Given the description of an element on the screen output the (x, y) to click on. 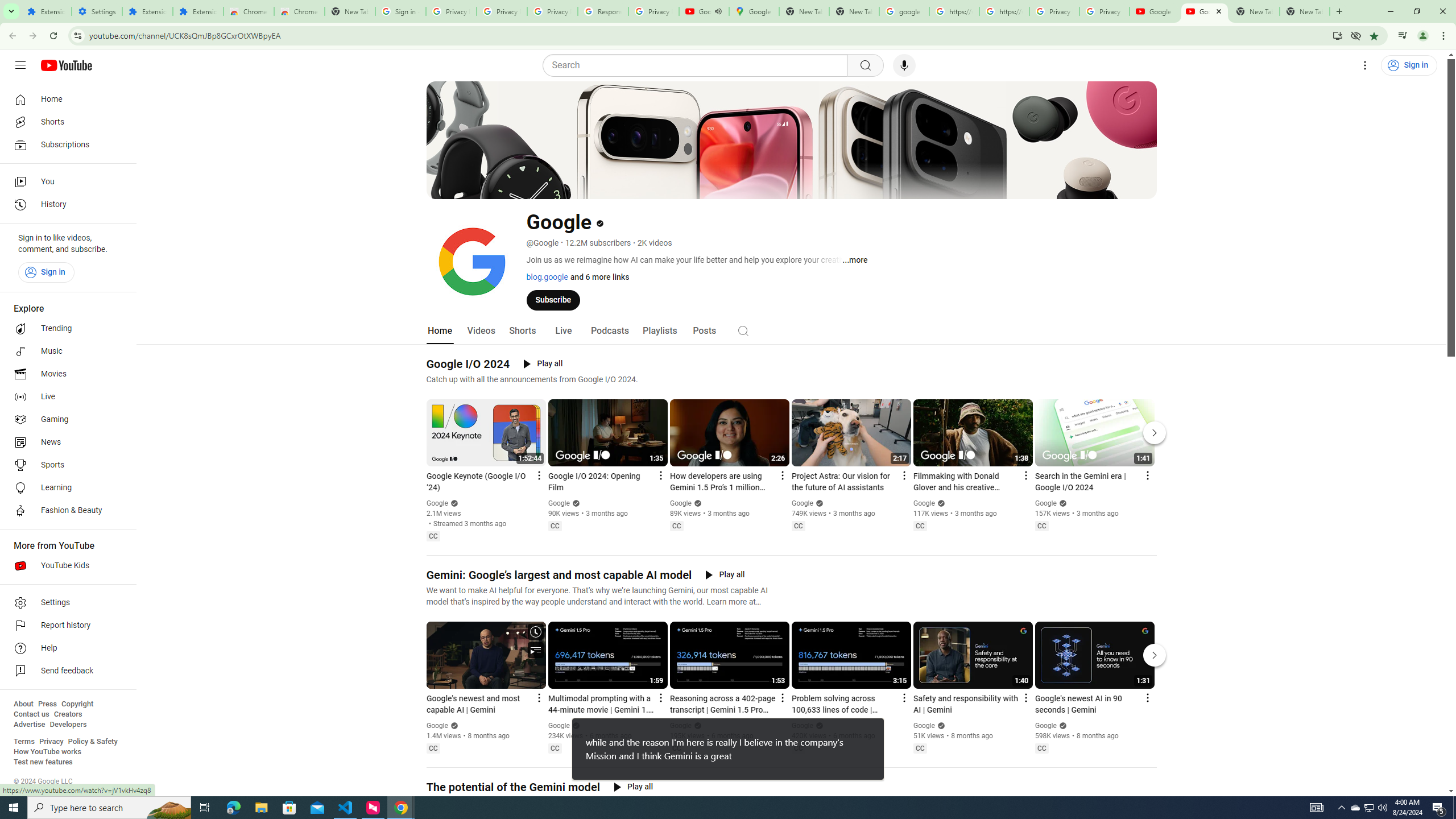
and 6 more links (598, 276)
Extensions (46, 11)
Music (64, 350)
Playlists (659, 330)
The potential of the Gemini model (512, 786)
Shorts (521, 330)
